Given the description of an element on the screen output the (x, y) to click on. 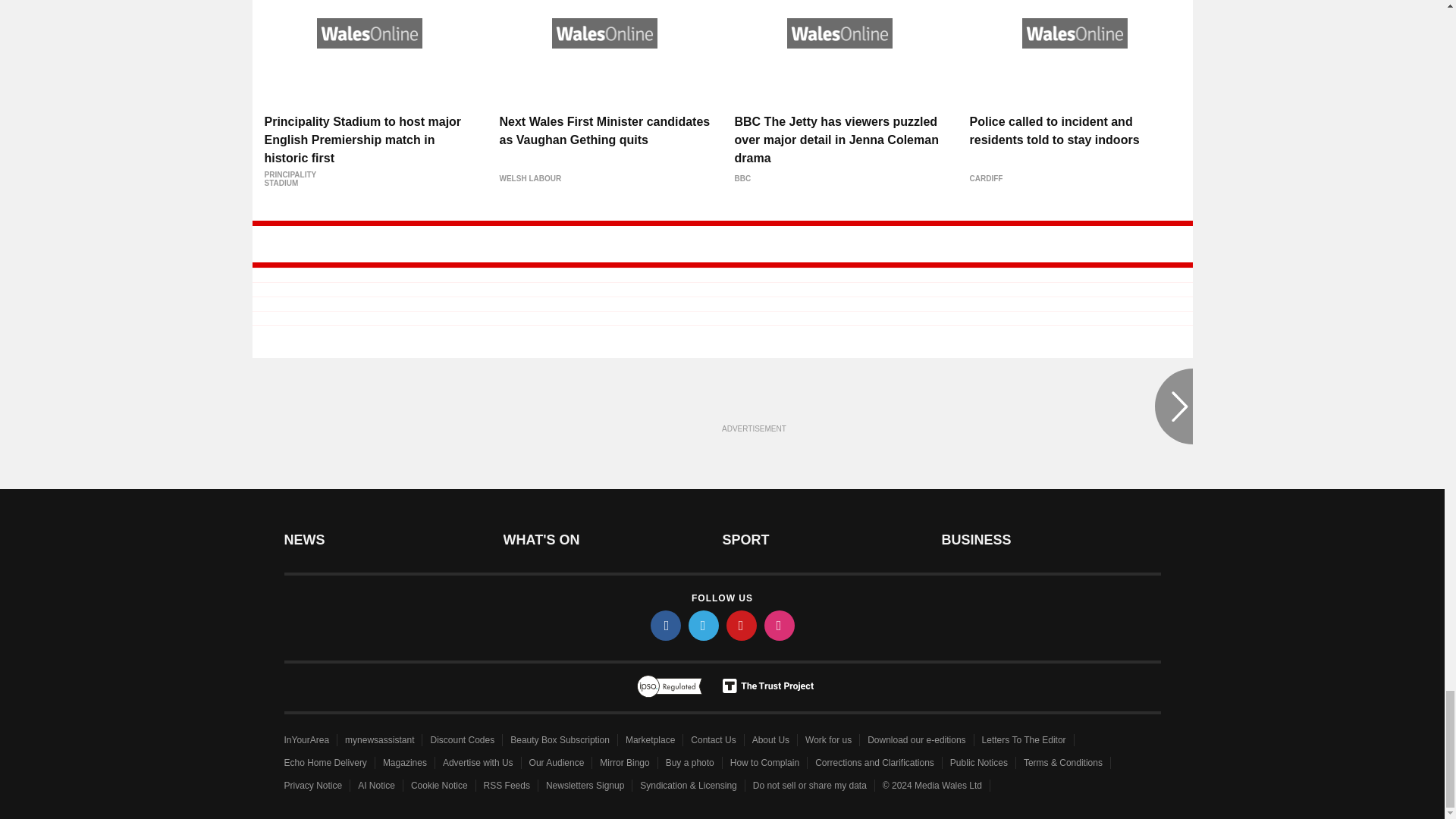
twitter (703, 625)
instagram (779, 625)
pinterest (741, 625)
facebook (665, 625)
